Given the description of an element on the screen output the (x, y) to click on. 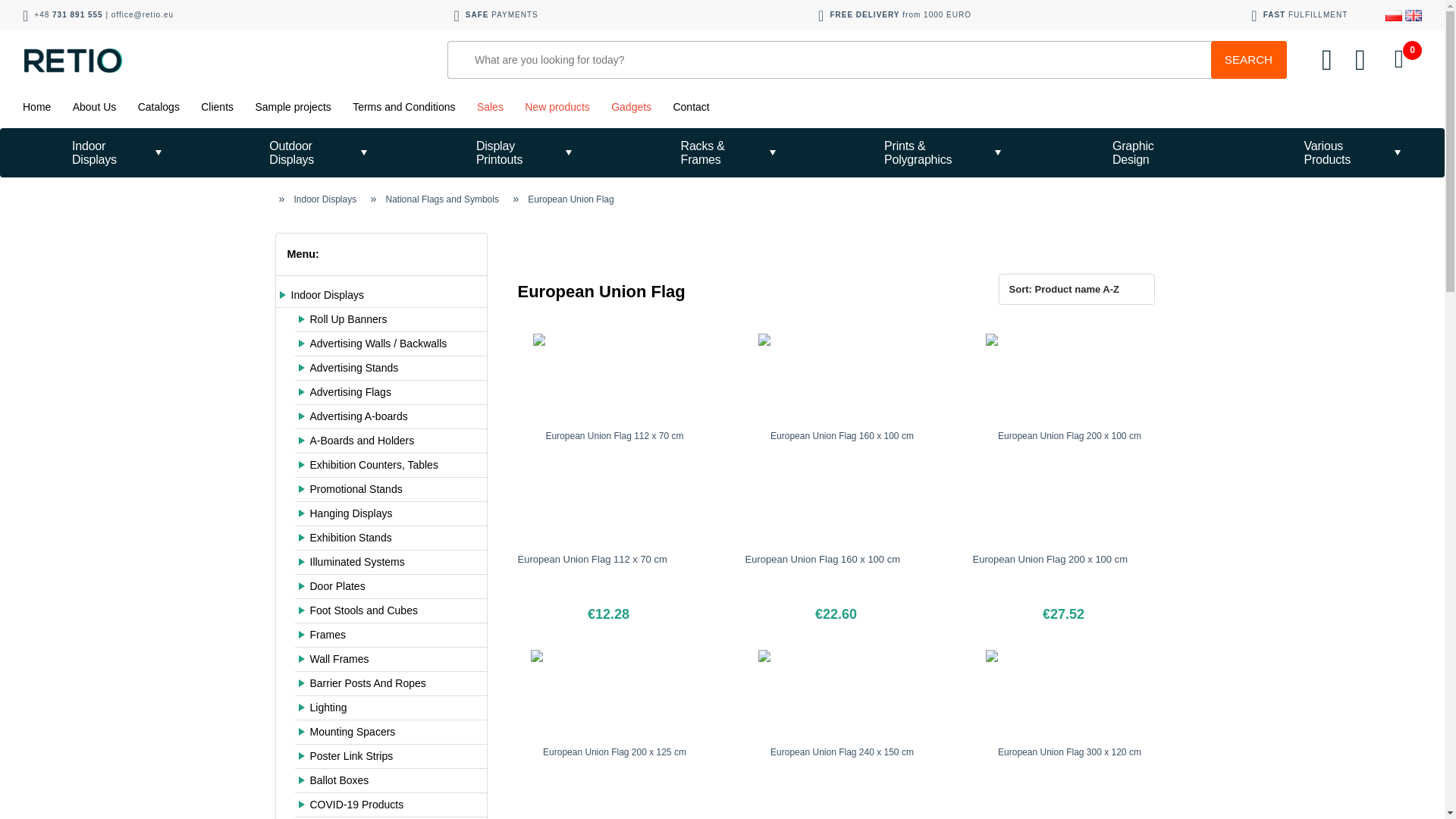
Catalogs (158, 106)
New products (556, 106)
Home (36, 106)
Indoor Displays (102, 152)
Gadgets (630, 106)
Sales (490, 106)
0 (1398, 59)
Terms and Conditions (403, 106)
Basket (1398, 59)
Sample projects (292, 106)
